Given the description of an element on the screen output the (x, y) to click on. 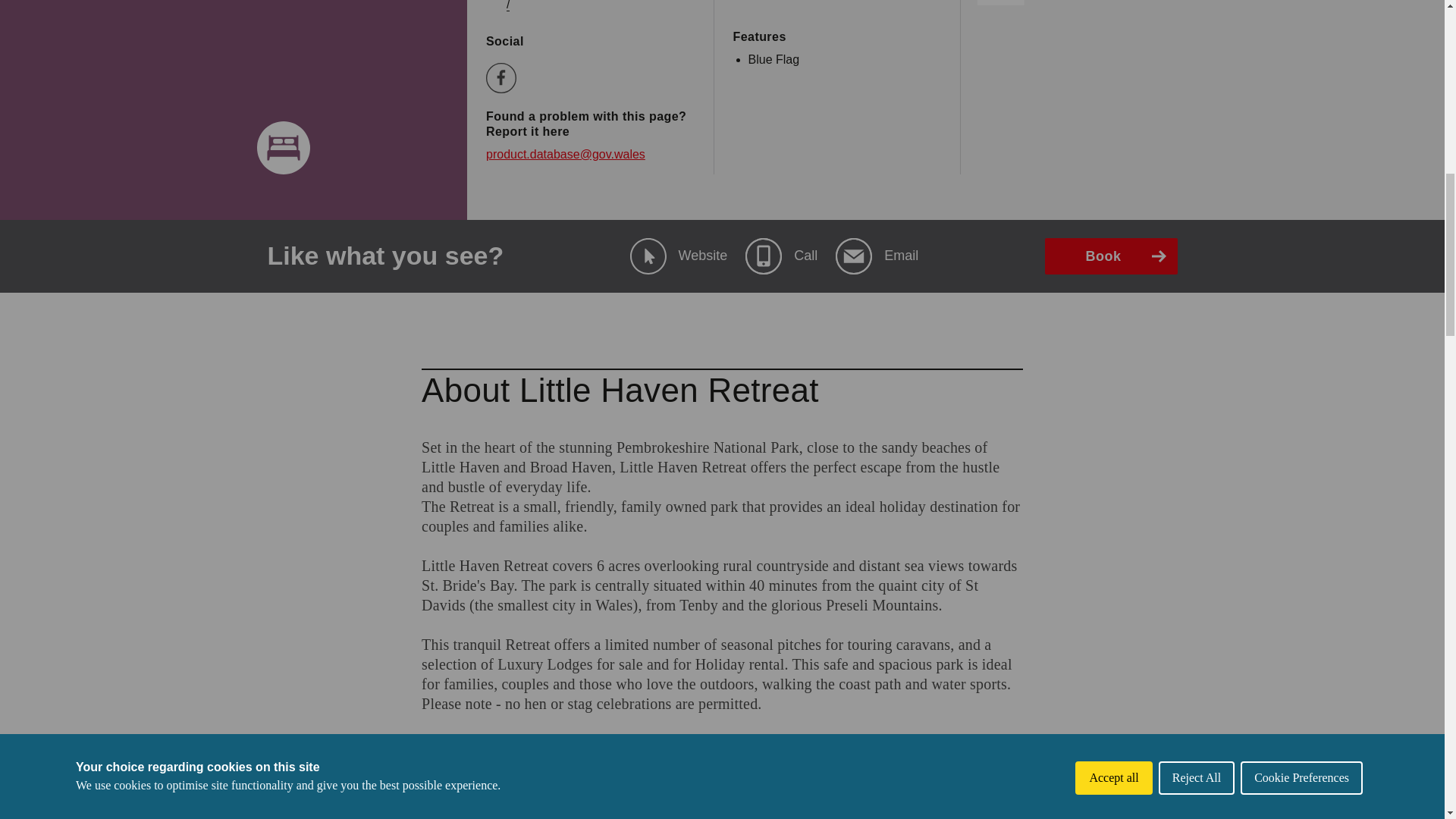
Accept all (1113, 24)
Reject All (1196, 17)
Cookie Preferences (1301, 12)
